Given the description of an element on the screen output the (x, y) to click on. 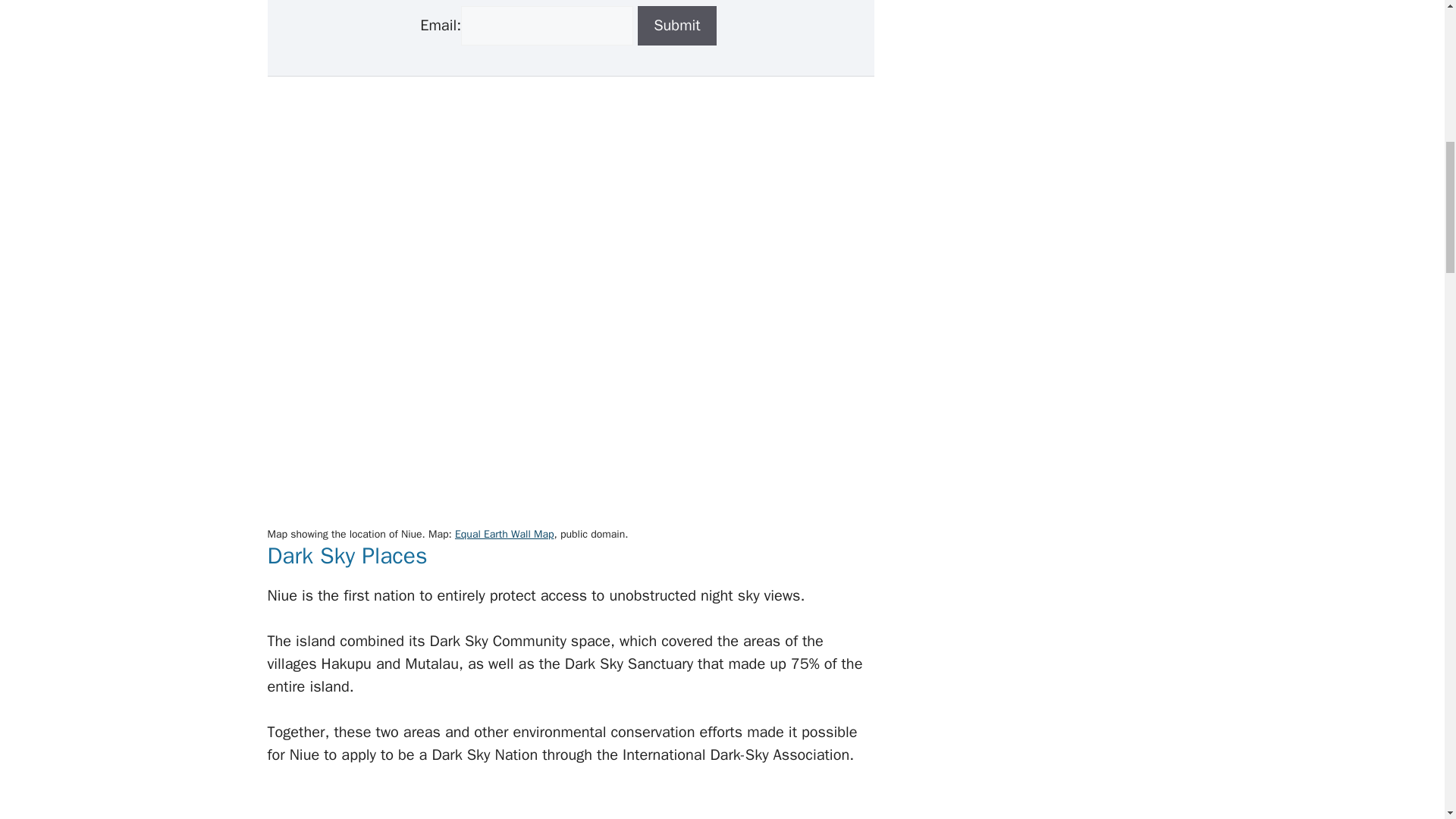
Equal Earth Wall Map (504, 533)
Submit (676, 25)
Submit (676, 25)
